Given the description of an element on the screen output the (x, y) to click on. 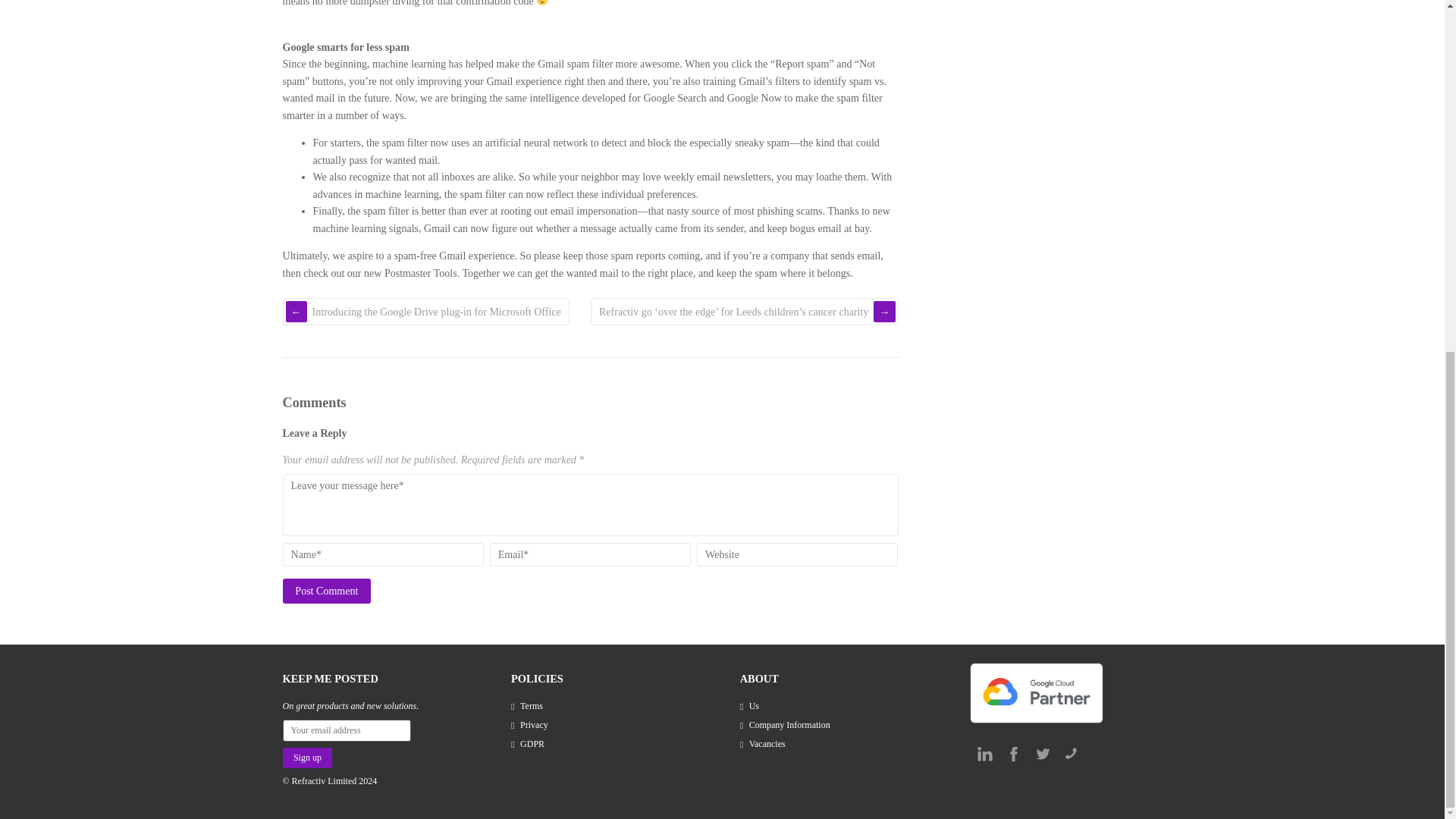
Sign up (306, 757)
Post Comment (326, 590)
Twitter (1042, 753)
Facebook (1013, 753)
LinkedIn (984, 753)
Yahoo (1071, 753)
